Given the description of an element on the screen output the (x, y) to click on. 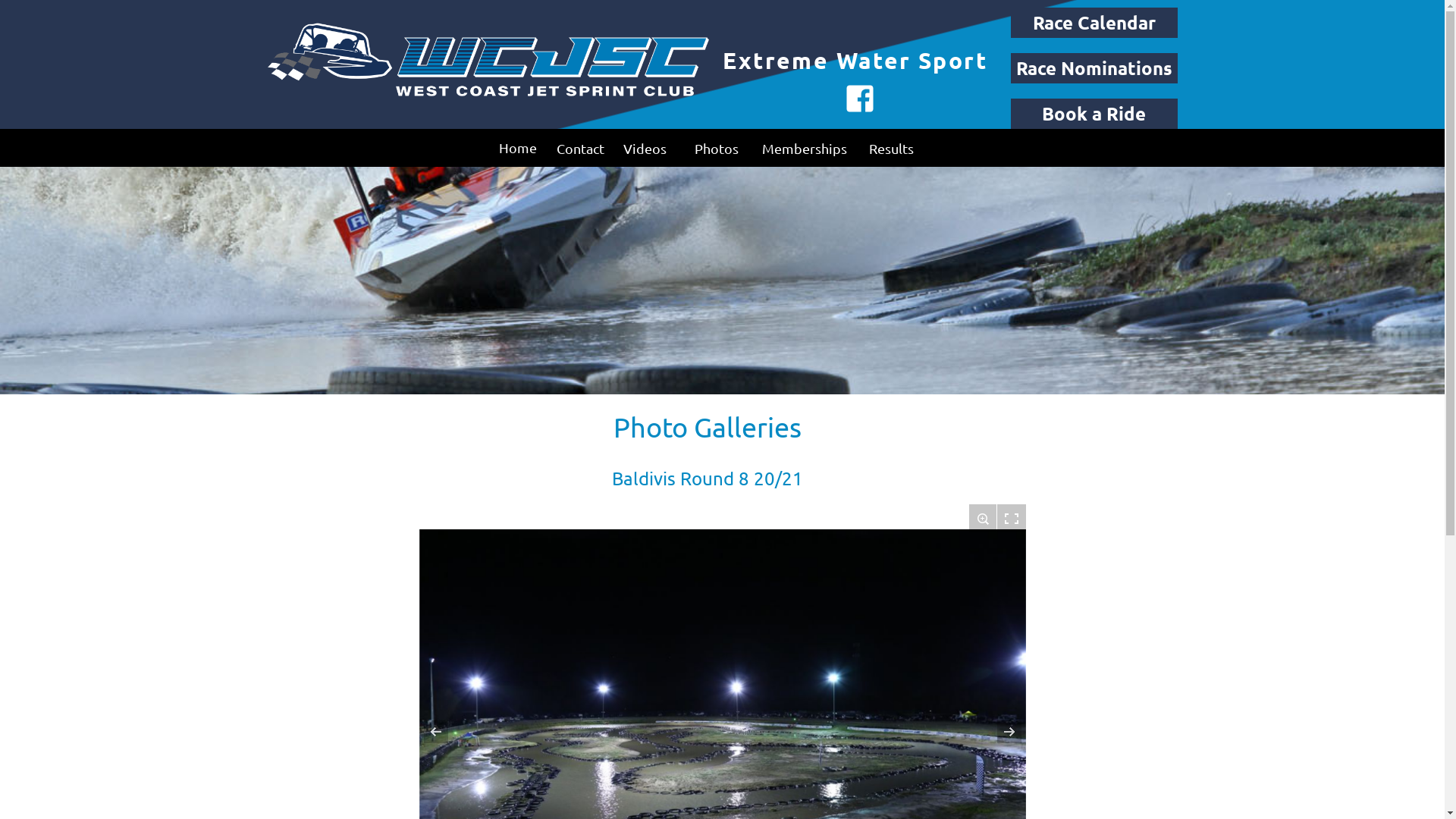
Race Calendar Element type: text (1093, 22)
Home Element type: text (517, 147)
Zoom in/out Element type: hover (982, 518)
Results Element type: text (890, 148)
Next (arrow right) Element type: hover (998, 731)
Race Nominations Element type: text (1093, 68)
Photos Element type: text (715, 148)
Previous (arrow left) Element type: hover (444, 731)
Memberships Element type: text (803, 148)
Book a Ride Element type: text (1093, 113)
Contact Element type: text (580, 148)
Videos Element type: text (644, 148)
Toggle fullscreen Element type: hover (1010, 518)
Photo Galleries Element type: text (706, 426)
